Given the description of an element on the screen output the (x, y) to click on. 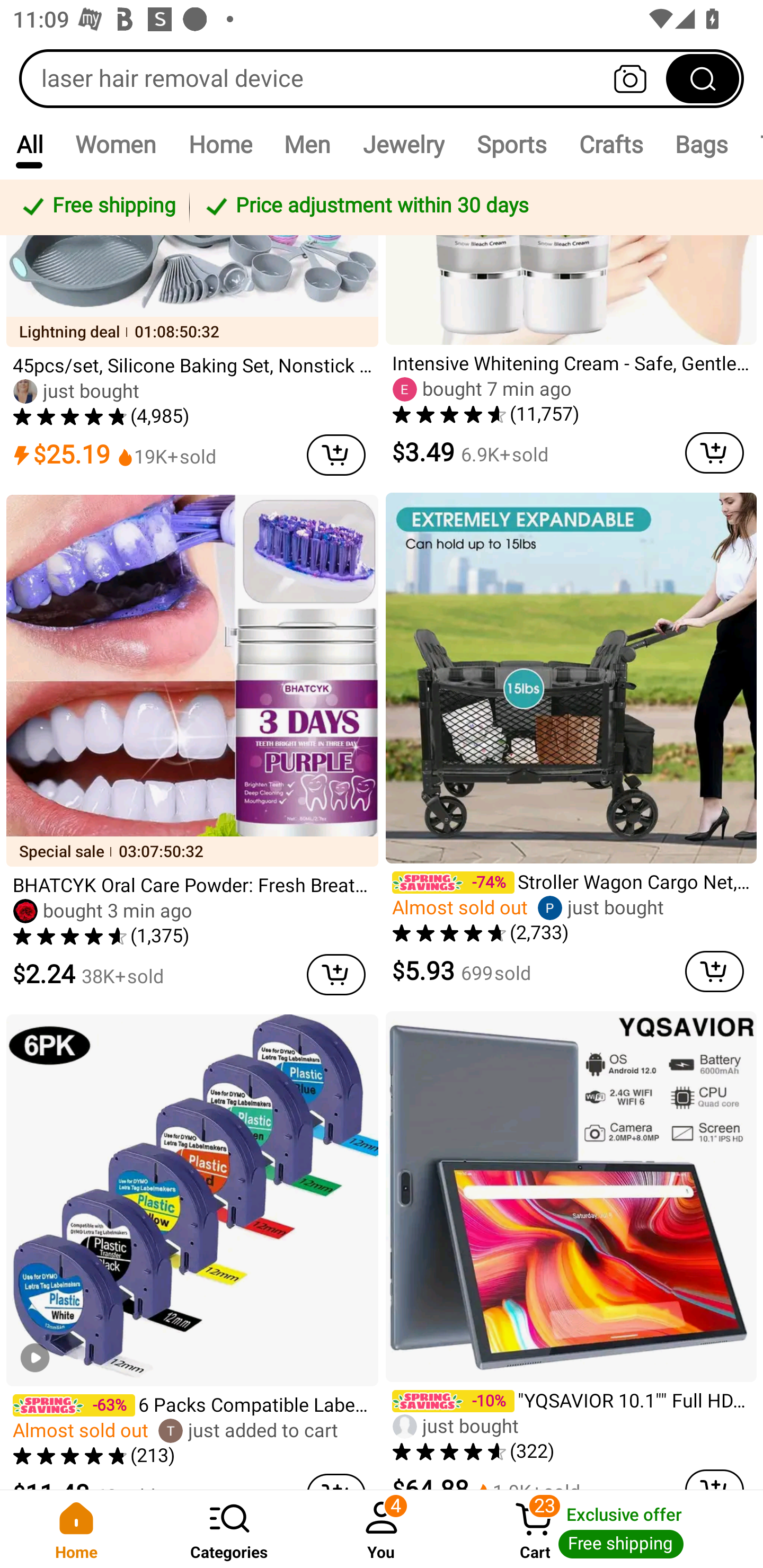
laser hair removal device (381, 78)
All (29, 144)
Women (115, 144)
Home (219, 144)
Men (306, 144)
Jewelry (403, 144)
Sports (511, 144)
Crafts (611, 144)
Bags (701, 144)
Free shipping (97, 206)
Price adjustment within 30 days (472, 206)
cart delete (714, 452)
cart delete (335, 454)
cart delete (714, 971)
cart delete (335, 974)
Home (76, 1528)
Categories (228, 1528)
You 4 You (381, 1528)
Cart 23 Cart Exclusive offer (610, 1528)
